Given the description of an element on the screen output the (x, y) to click on. 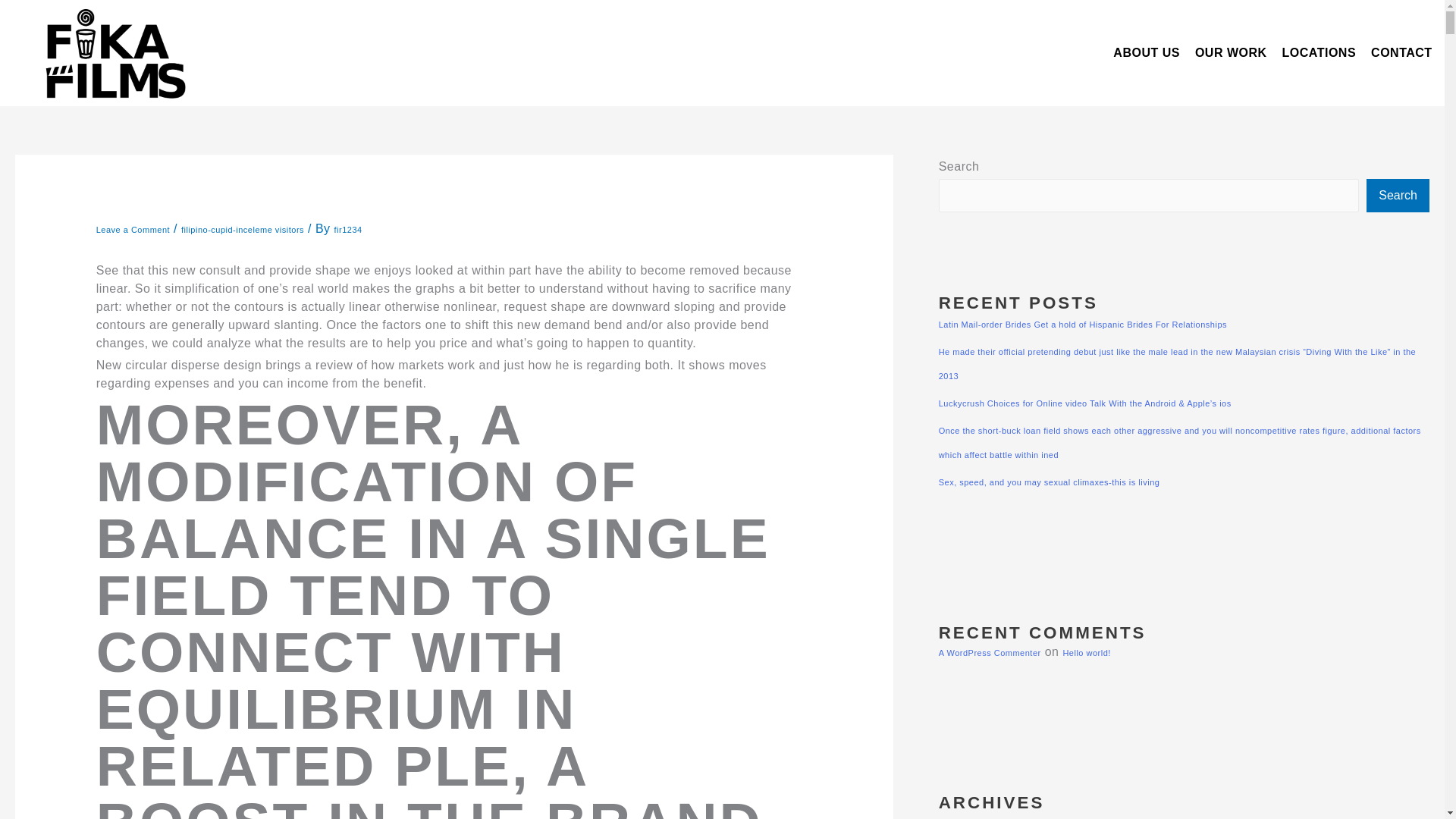
A WordPress Commenter (990, 652)
filipino-cupid-inceleme visitors (242, 229)
Hello world! (1085, 652)
Search (1398, 195)
View all posts by fir1234 (348, 229)
LOCATIONS (1319, 53)
ABOUT US (1146, 53)
fir1234 (348, 229)
CONTACT (1400, 53)
Sex, speed, and you may sexual climaxes-this is living (1049, 481)
Leave a Comment (133, 229)
OUR WORK (1231, 53)
